Given the description of an element on the screen output the (x, y) to click on. 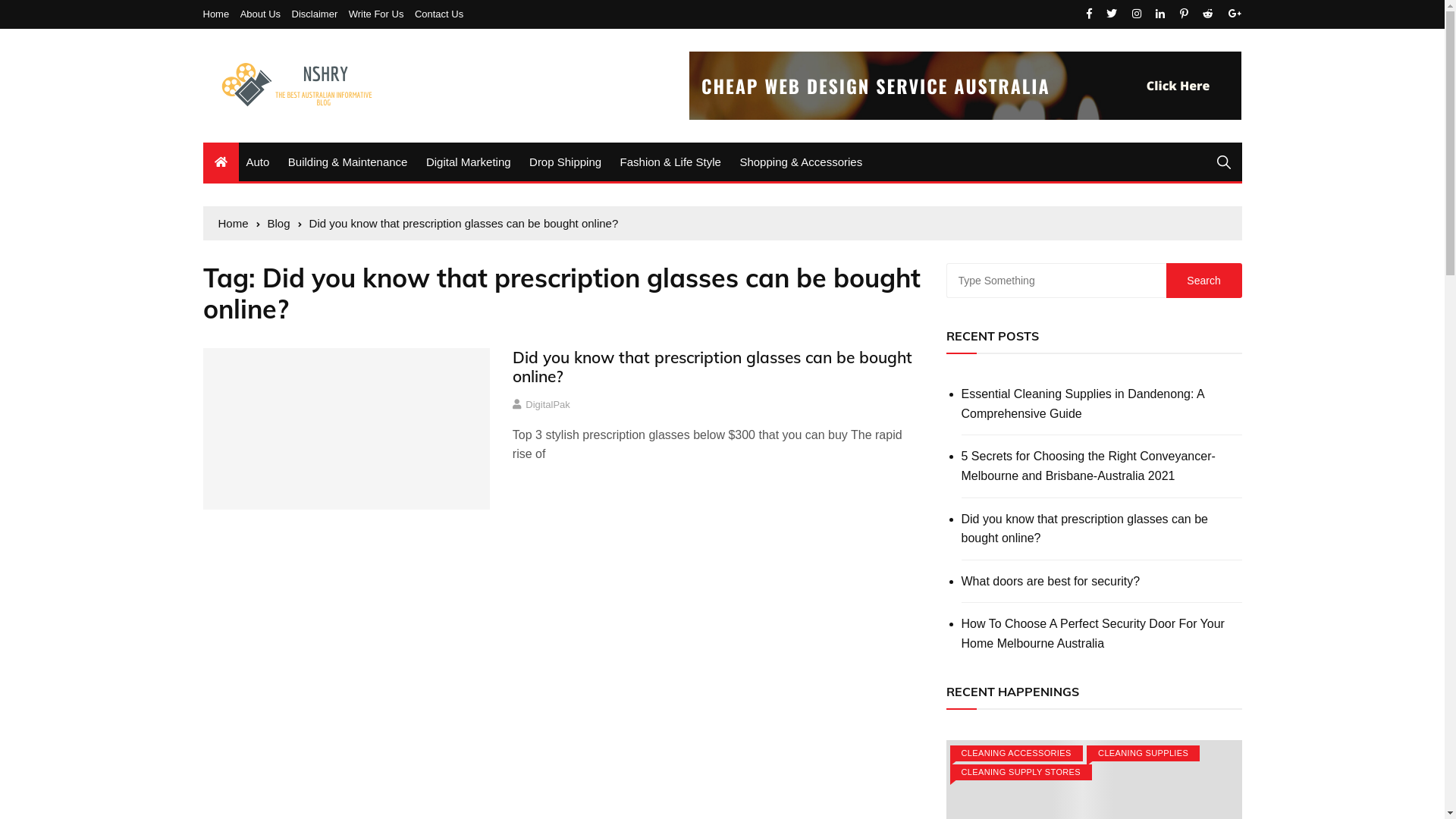
CLEANING SUPPLIES Element type: text (1142, 753)
CLEANING ACCESSORIES Element type: text (1015, 753)
Home Element type: text (220, 13)
Home Element type: text (239, 223)
About Us Element type: text (264, 13)
Digital Marketing Element type: text (468, 161)
What doors are best for security? Element type: text (1101, 581)
Did you know that prescription glasses can be bought online? Element type: text (463, 223)
Disclaimer Element type: text (318, 13)
Blog Element type: text (284, 223)
Building & Maintenance Element type: text (347, 161)
Shopping & Accessories Element type: text (800, 161)
CLEANING SUPPLY STORES Element type: text (1020, 772)
Did you know that prescription glasses can be bought online? Element type: text (1101, 528)
Search Element type: text (1204, 280)
Fashion & Life Style Element type: text (670, 161)
Contact Us Element type: text (438, 13)
Auto Element type: text (257, 161)
Write For Us Element type: text (379, 13)
DigitalPak Element type: text (547, 405)
Did you know that prescription glasses can be bought online? Element type: text (712, 366)
Drop Shipping Element type: text (564, 161)
